Given the description of an element on the screen output the (x, y) to click on. 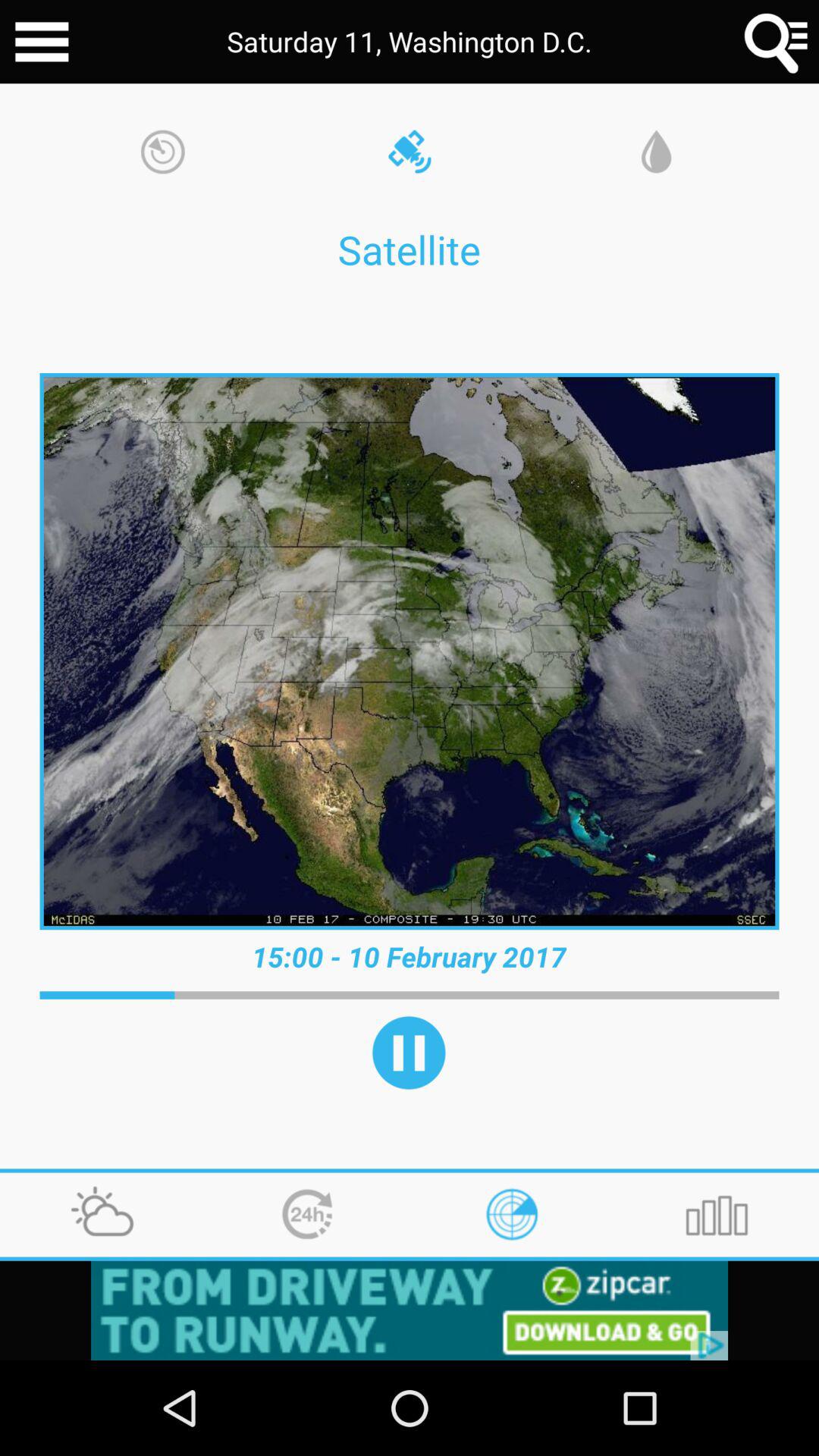
click the advertisement (409, 1310)
